Given the description of an element on the screen output the (x, y) to click on. 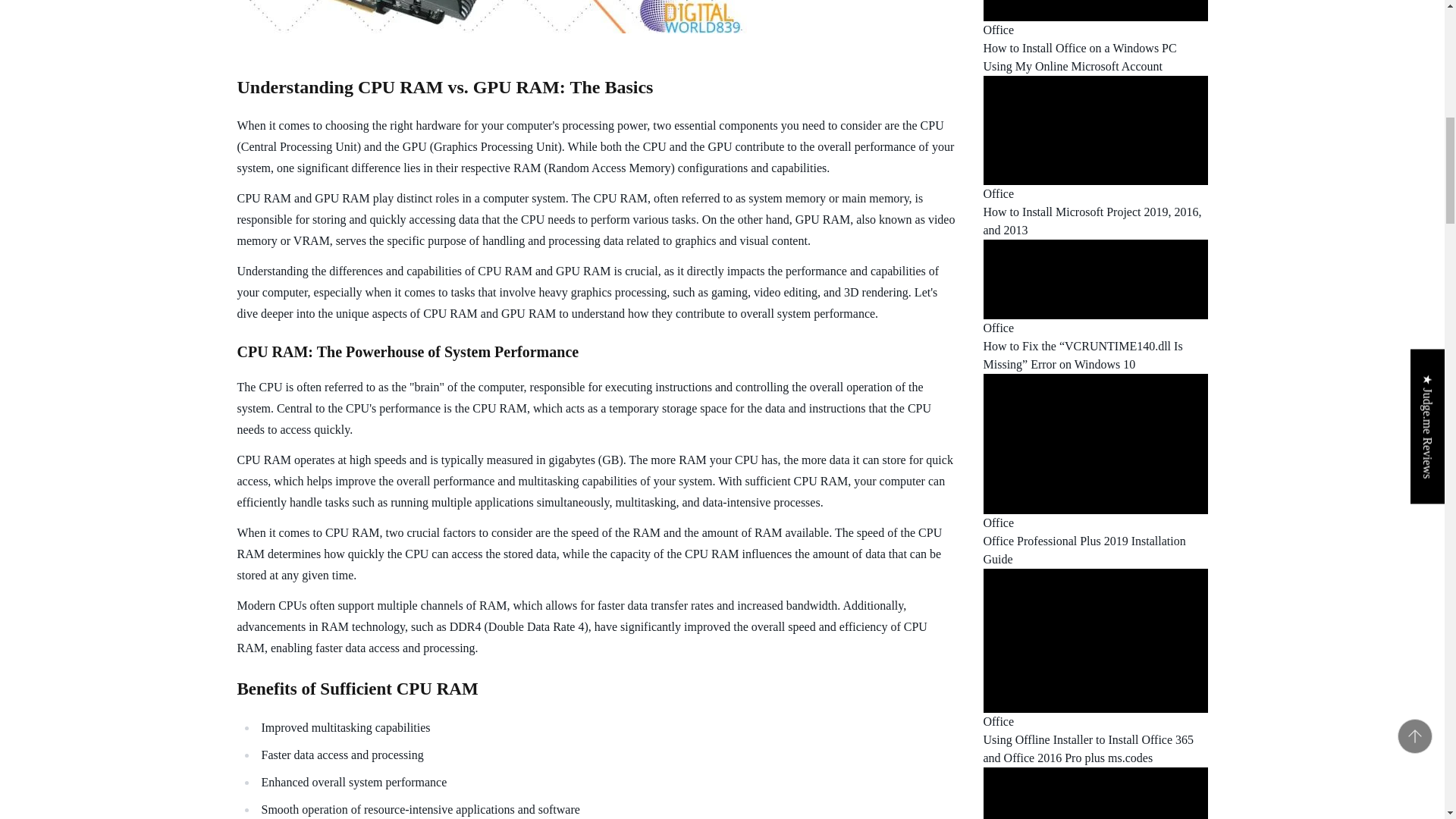
Show articles tagged Office (997, 522)
Show articles tagged Office (997, 193)
Show articles tagged Office (997, 327)
Show articles tagged Office (997, 29)
